Given the description of an element on the screen output the (x, y) to click on. 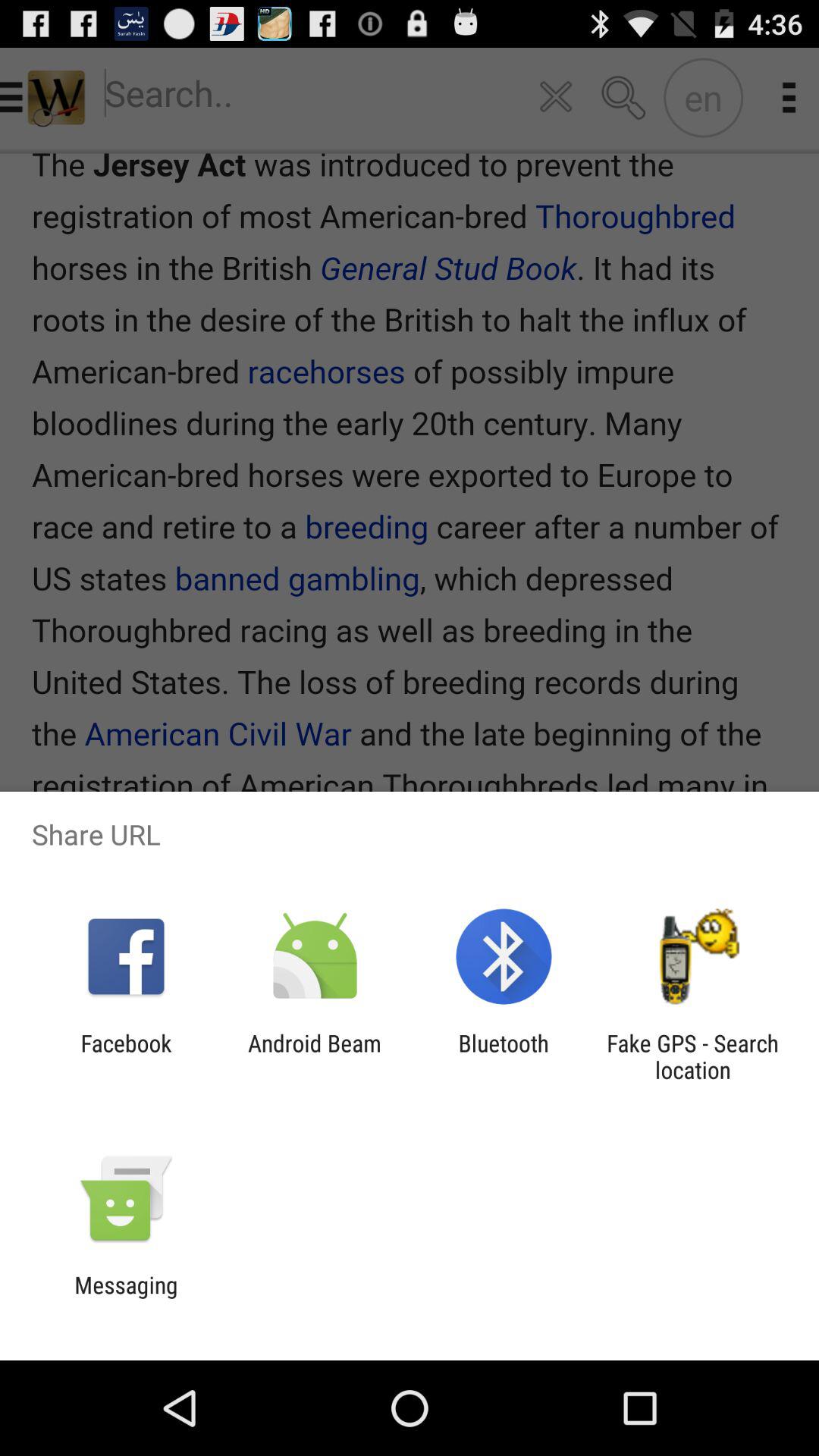
scroll to the facebook item (125, 1056)
